Given the description of an element on the screen output the (x, y) to click on. 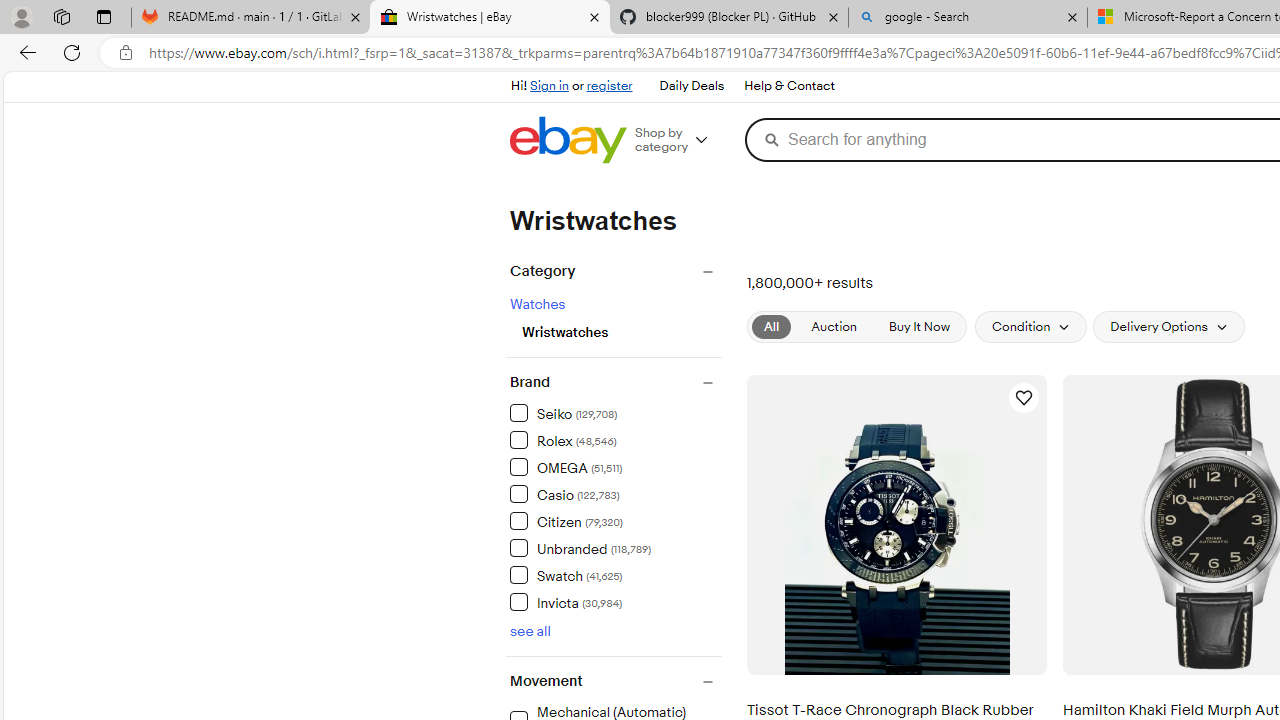
Seiko(129,708) Items (615, 412)
Help & Contact (788, 86)
Swatch(41,625) Items (615, 574)
OMEGA (51,511) Items (566, 466)
Delivery Options (1169, 326)
Help & Contact (788, 85)
Condition (1031, 326)
